Given the description of an element on the screen output the (x, y) to click on. 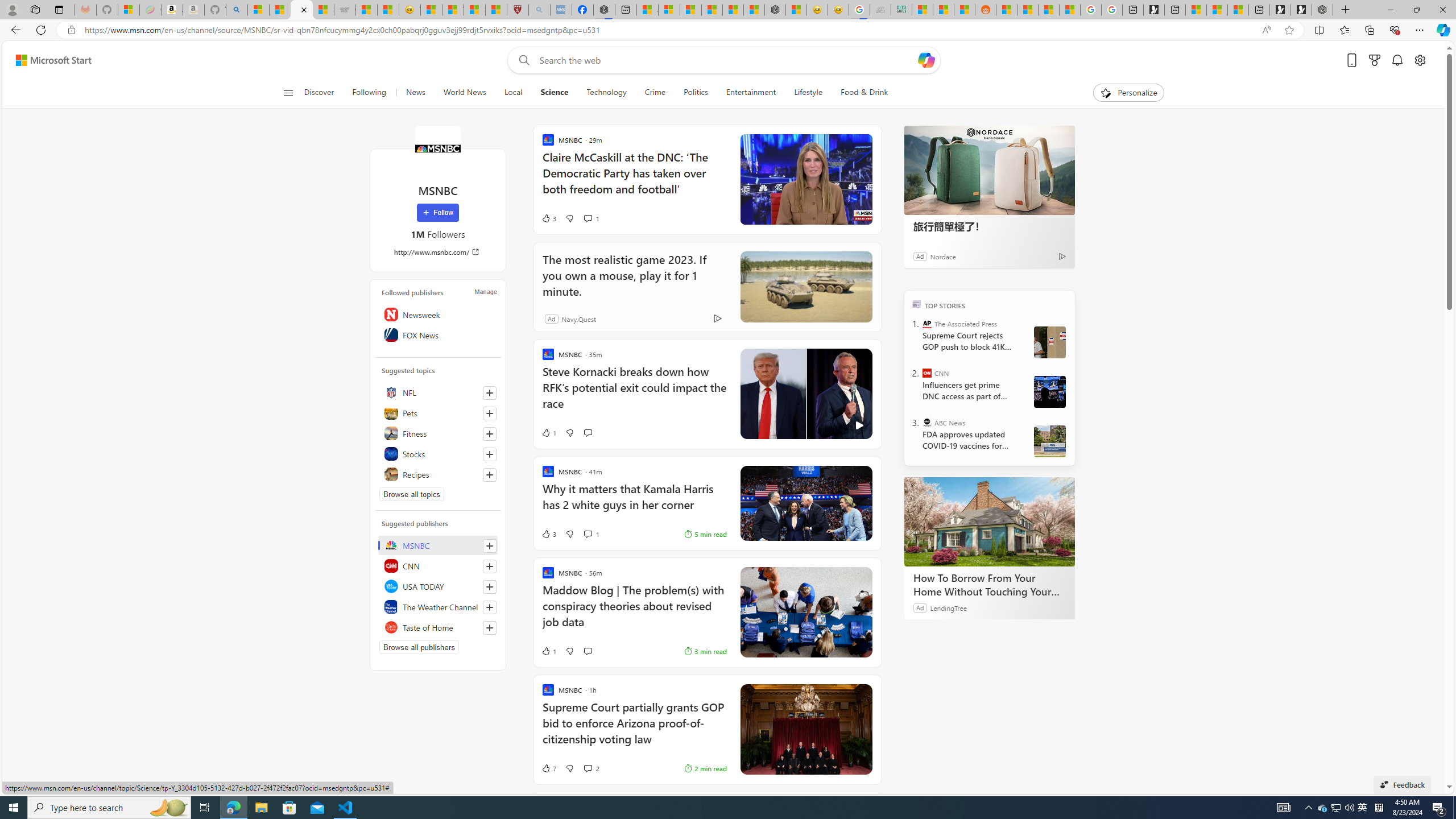
Food & Drink (859, 92)
TOP (916, 302)
MSN (964, 9)
Microsoft account | Privacy (668, 9)
Start the conversation (587, 650)
Nordace (943, 256)
Notifications (1397, 60)
Microsoft-Report a Concern to Bing (128, 9)
NFL (437, 392)
Play Free Online Games | Games from Microsoft Start (1300, 9)
